Given the description of an element on the screen output the (x, y) to click on. 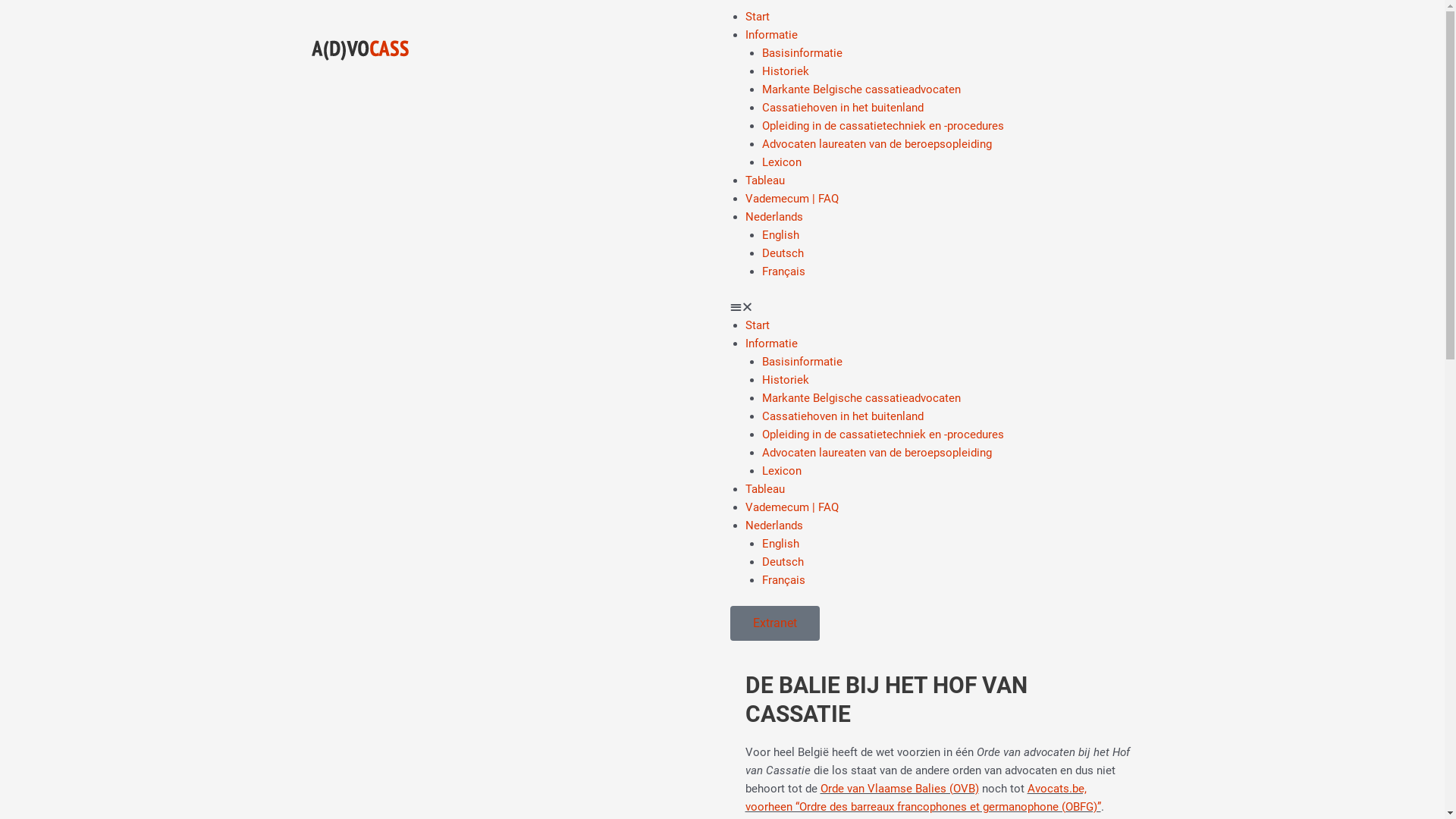
Tableau Element type: text (764, 180)
Nederlands Element type: text (1090, 216)
Opleiding in de cassatietechniek en -procedures Element type: text (883, 125)
Historiek Element type: text (785, 379)
Historiek Element type: text (785, 71)
English Element type: text (1099, 542)
Cassatiehoven in het buitenland Element type: text (842, 107)
Markante Belgische cassatieadvocaten Element type: text (861, 397)
Nederlands Element type: text (1090, 524)
Lexicon Element type: text (781, 470)
Basisinformatie Element type: text (802, 52)
Lexicon Element type: text (781, 162)
Tableau Element type: text (764, 488)
Vademecum | FAQ Element type: text (790, 198)
Deutsch Element type: text (1099, 253)
Opleiding in de cassatietechniek en -procedures Element type: text (883, 434)
Advocaten laureaten van de beroepsopleiding Element type: text (876, 452)
Vademecum | FAQ Element type: text (790, 507)
Informatie Element type: text (770, 343)
English Element type: text (1099, 234)
Cassatiehoven in het buitenland Element type: text (842, 416)
Markante Belgische cassatieadvocaten Element type: text (861, 89)
Deutsch Element type: text (1099, 561)
Orde van Vlaamse Balies (OVB) Element type: text (899, 788)
Extranet Element type: text (774, 622)
Start Element type: text (756, 16)
Informatie Element type: text (770, 34)
Start Element type: text (756, 325)
Basisinformatie Element type: text (802, 361)
Advocaten laureaten van de beroepsopleiding Element type: text (876, 143)
